Given the description of an element on the screen output the (x, y) to click on. 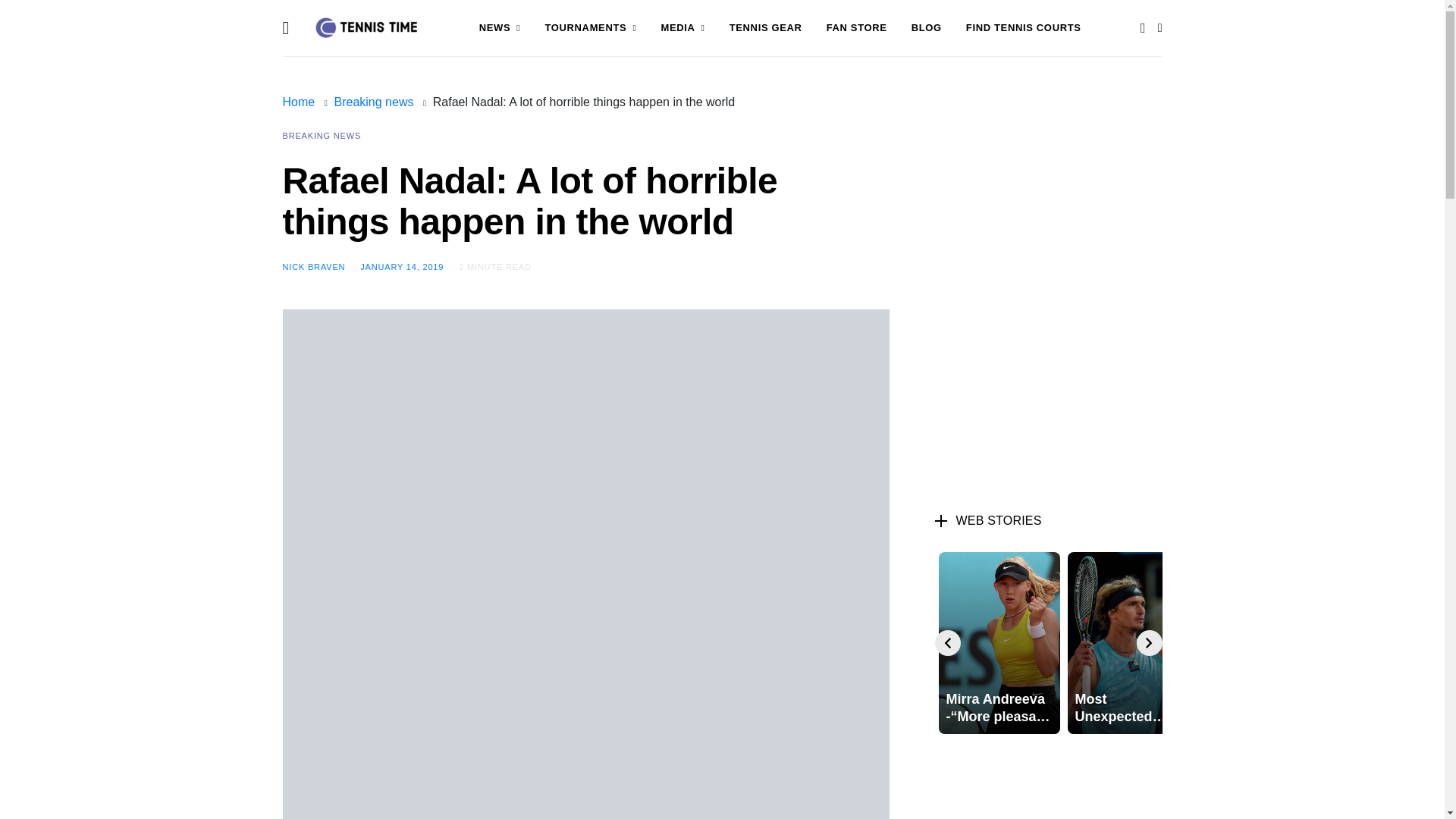
TOURNAMENTS (590, 28)
View all posts by Nick Braven (313, 266)
